Given the description of an element on the screen output the (x, y) to click on. 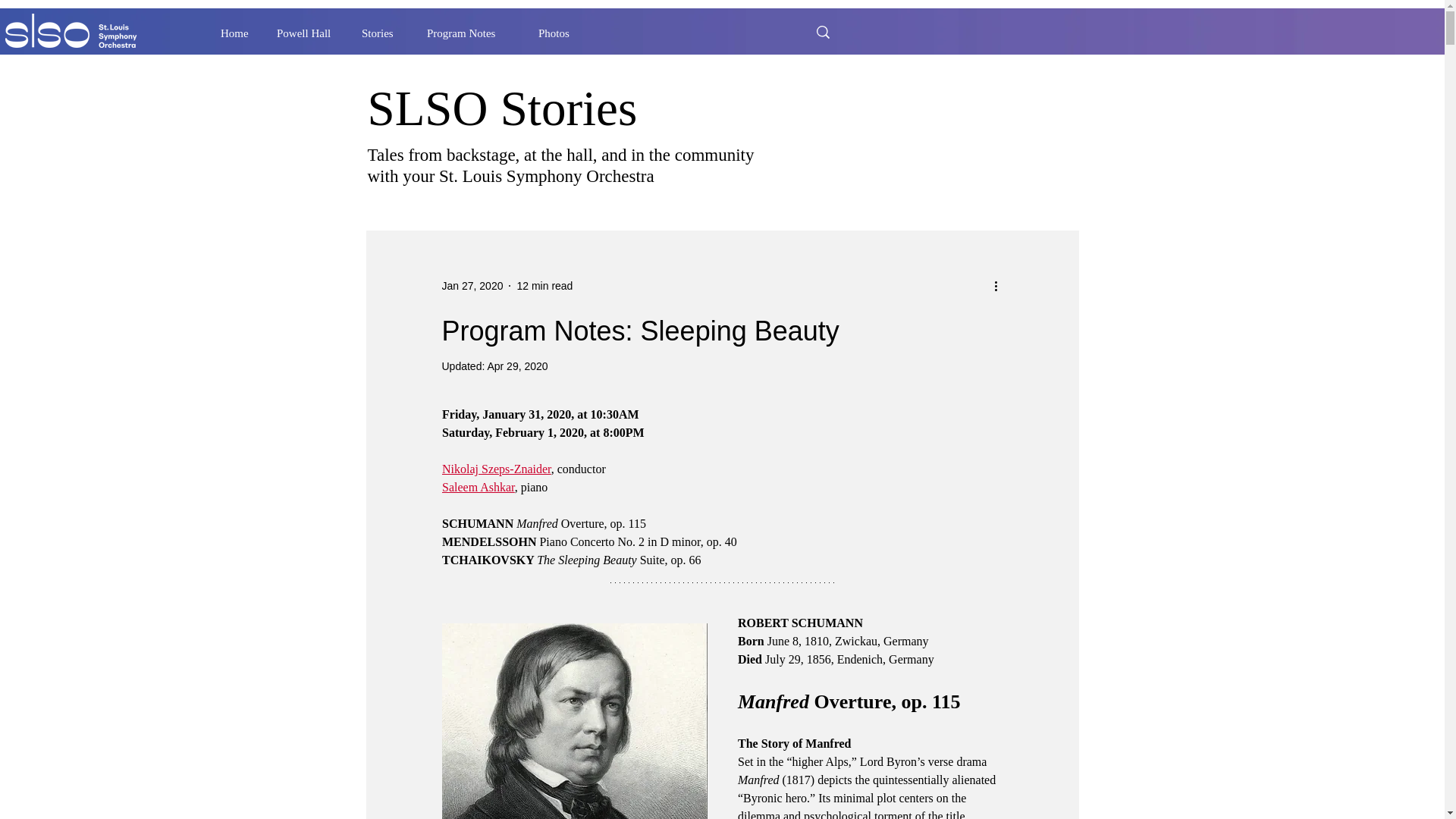
Program Notes (470, 32)
Jan 27, 2020 (471, 285)
12 min read (544, 285)
Home (236, 32)
Nikolaj Szeps-Znaider (495, 468)
Powell Hall (307, 32)
Saleem Ashkar (477, 486)
SLSO Stories (501, 108)
Photos (559, 32)
Stories (382, 32)
